Given the description of an element on the screen output the (x, y) to click on. 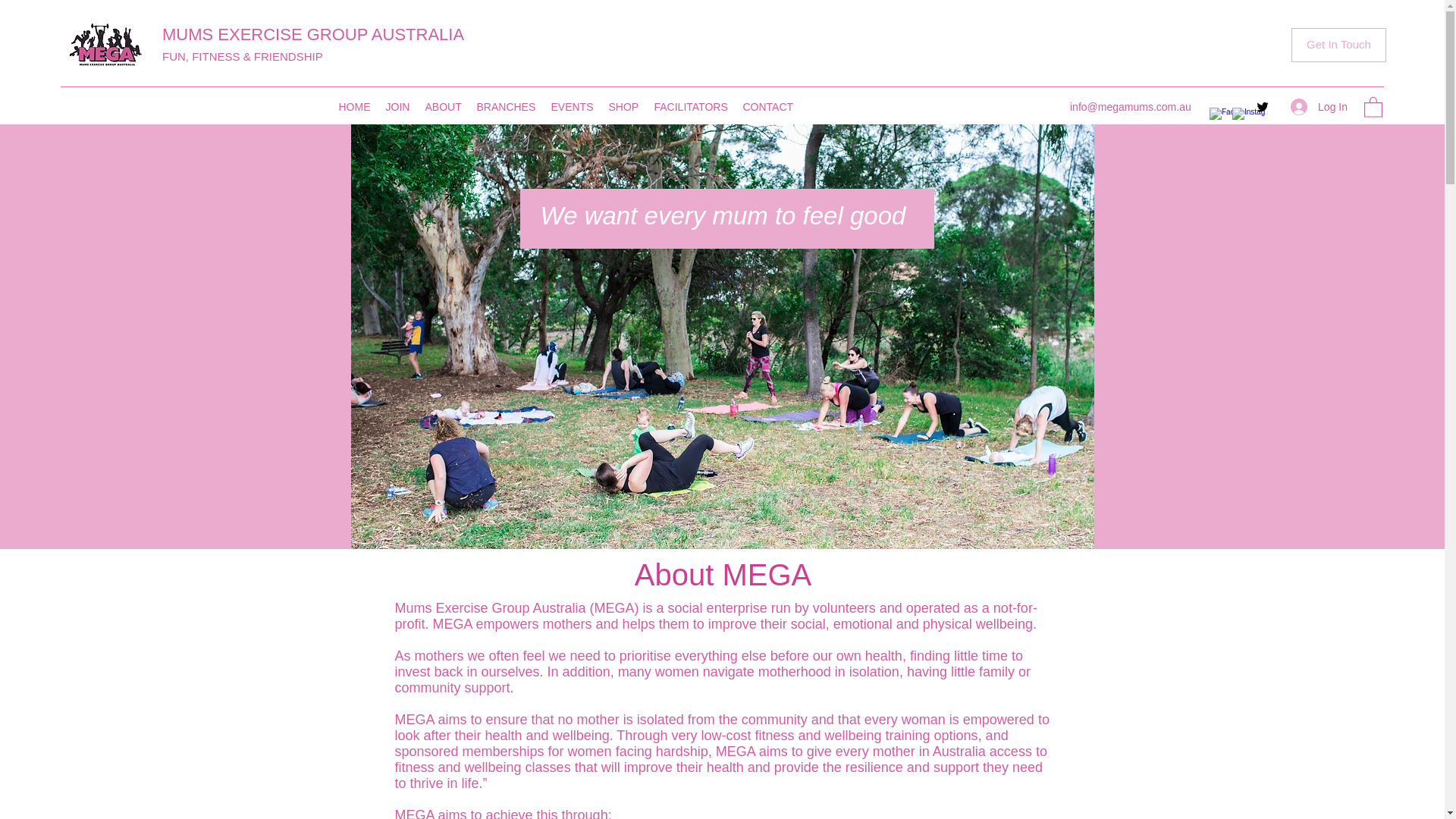
BRANCHES (505, 106)
FACILITATORS (690, 106)
EVENTS (571, 106)
HOME (353, 106)
SHOP (622, 106)
CONTACT (768, 106)
Log In (1318, 107)
ABOUT (442, 106)
JOIN (396, 106)
